Given the description of an element on the screen output the (x, y) to click on. 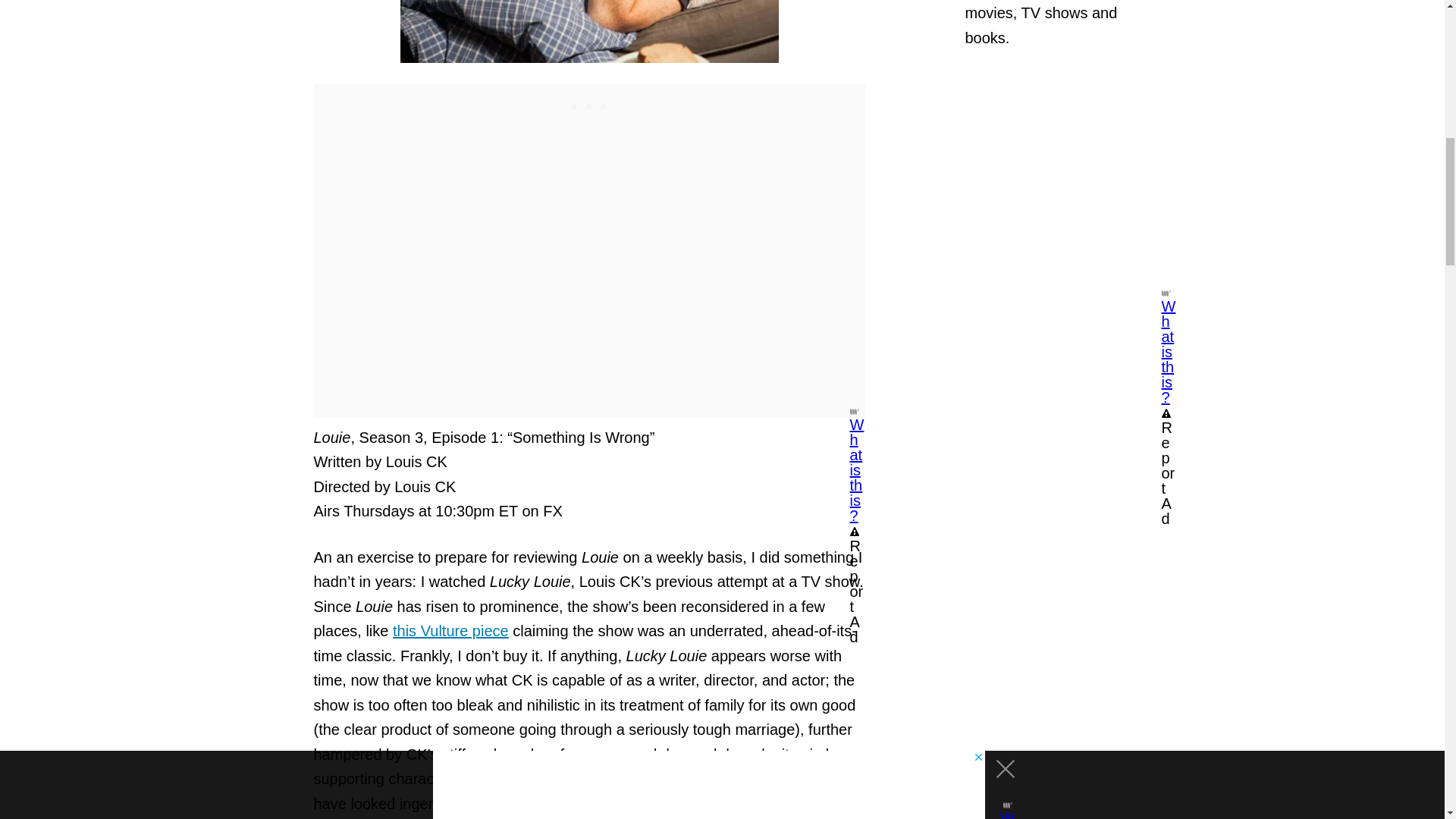
this Vulture piece (450, 630)
Louie (589, 31)
3rd party ad content (589, 103)
3rd party ad content (1062, 188)
